Given the description of an element on the screen output the (x, y) to click on. 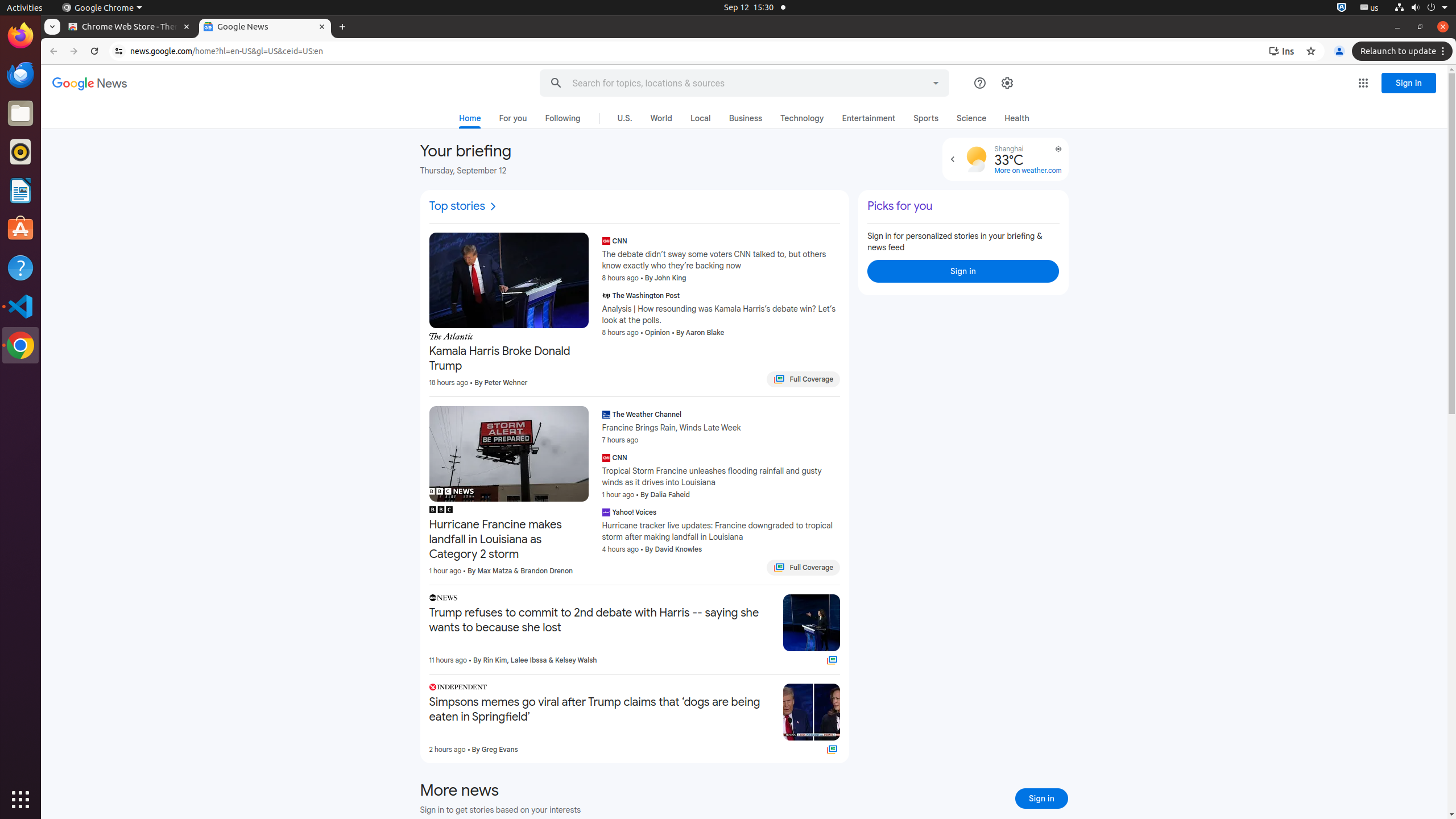
Kamala Harris Broke Donald Trump Element type: link (508, 358)
Hurricane Francine makes landfall in Louisiana as Category 2 storm Element type: link (508, 539)
Simpsons memes go viral after Trump claims that ‘dogs are being eaten in Springfield’ Element type: link (601, 709)
Forward Element type: push-button (73, 50)
More - Simpsons memes go viral after Trump claims that ‘dogs are being eaten in Springfield’ Element type: push-button (770, 688)
